Given the description of an element on the screen output the (x, y) to click on. 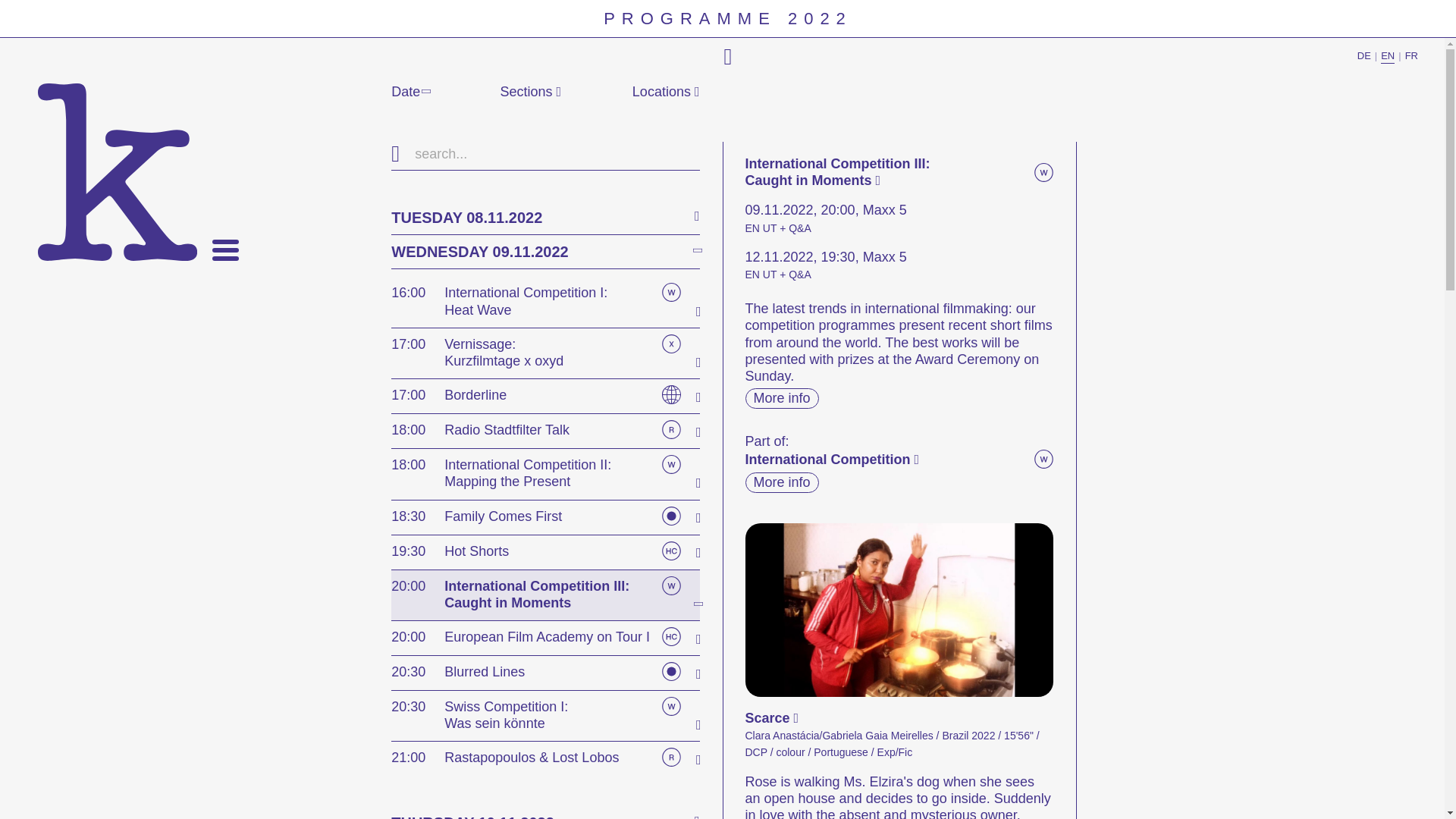
Internationale Kurzfilmtage Winterthur (116, 172)
International Competition (667, 292)
Country in Focus: Israel (667, 394)
Main Focus: Los Estados Andinos (667, 515)
International Competition (667, 585)
Swiss Competition (667, 705)
Hors Concours (667, 636)
Hors Concours (667, 550)
International Competition (667, 464)
Internationale Kurzfilmtage Winterthur (116, 172)
